Given the description of an element on the screen output the (x, y) to click on. 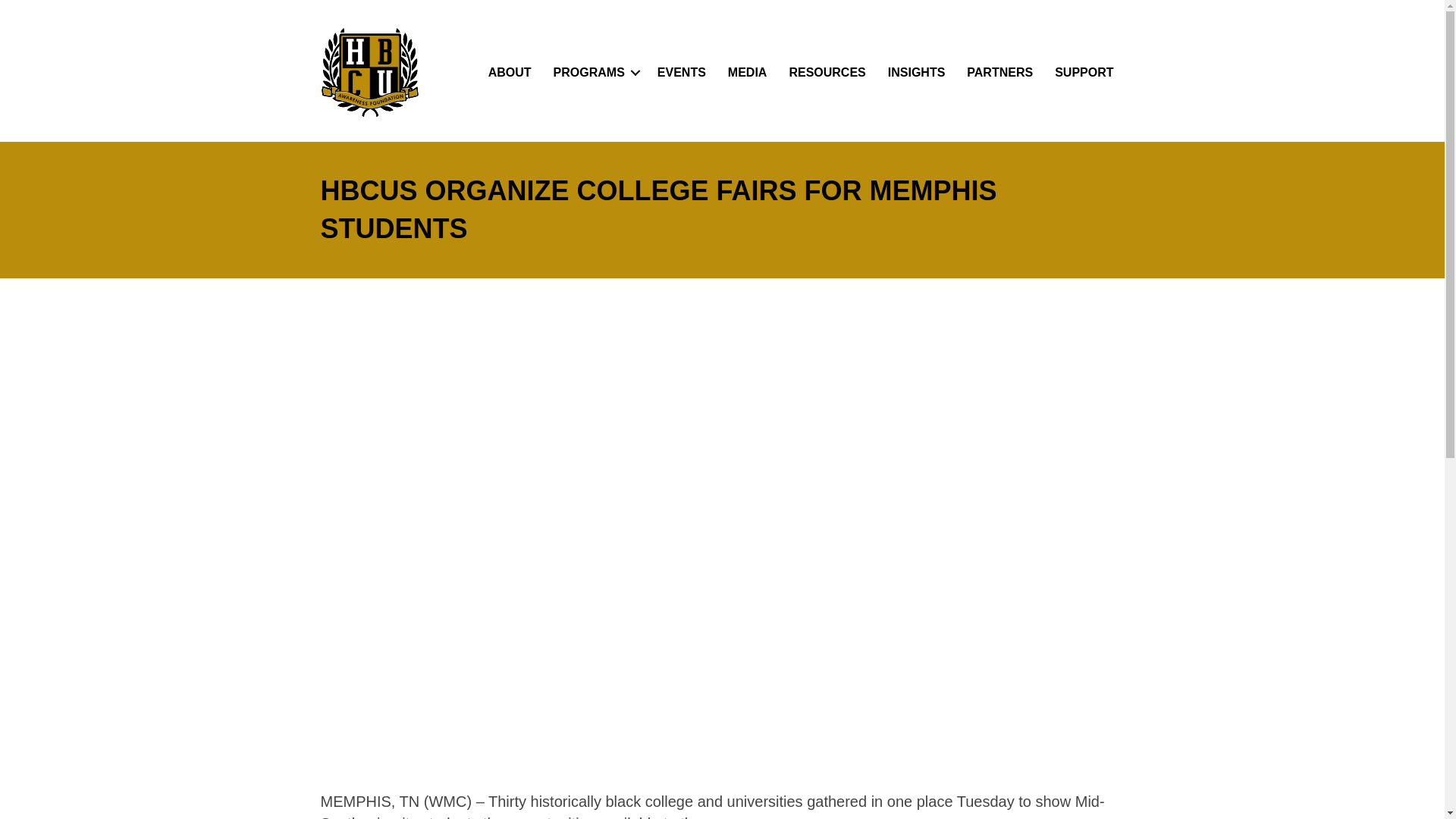
INSIGHTS (916, 72)
PARTNERS (999, 72)
RESOURCES (826, 72)
ABOUT (509, 72)
MEDIA (747, 72)
EVENTS (681, 72)
SUPPORT (1083, 72)
PROGRAMS (594, 72)
hbcu-awareness-foundation-logo (369, 72)
